Given the description of an element on the screen output the (x, y) to click on. 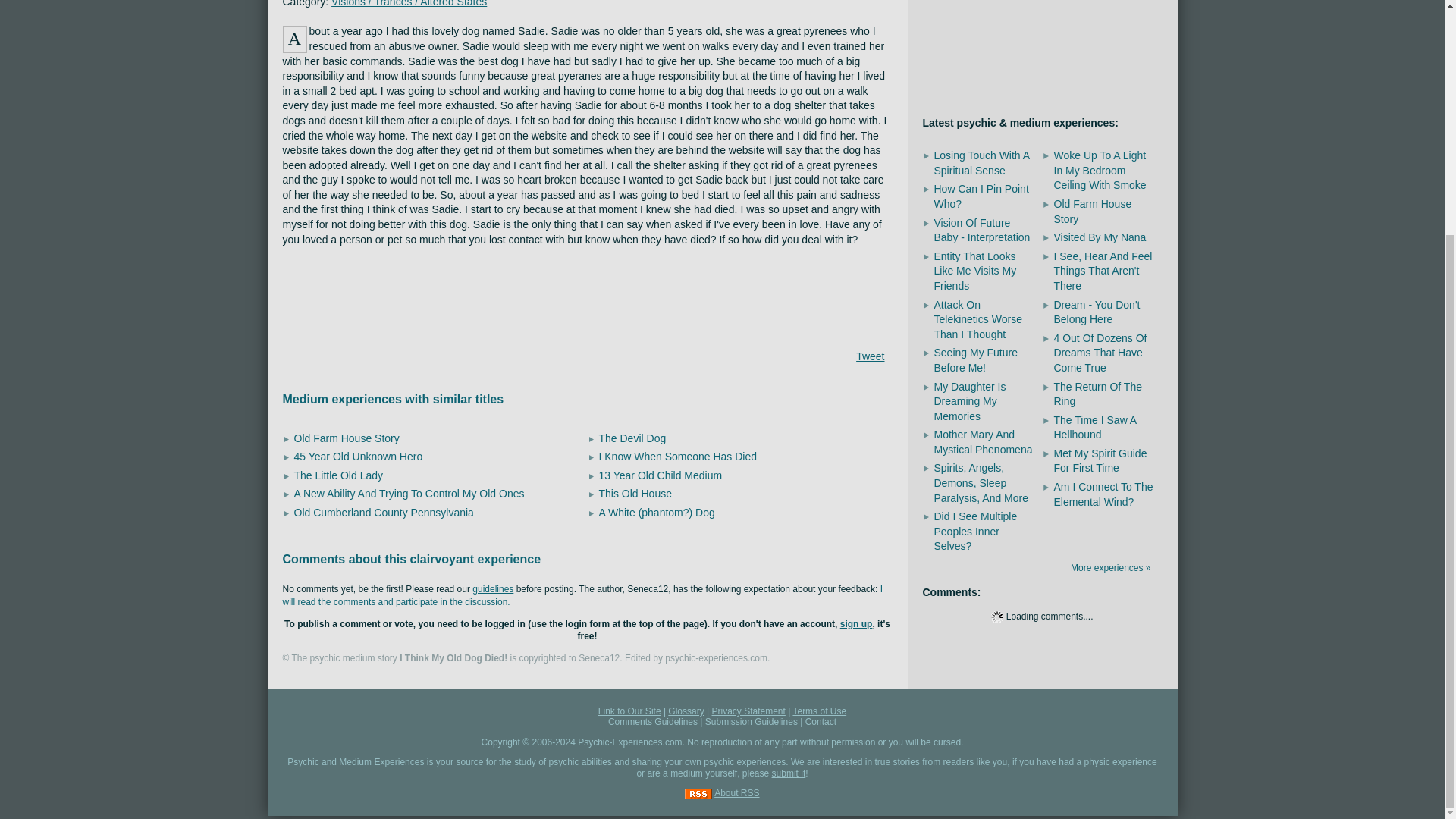
13 Year Old Child Medium (660, 475)
Old Cumberland County Pennsylvania (384, 512)
The Little Old Lady (339, 475)
This Old House (634, 493)
Advertisement (1041, 45)
A New Ability And Trying To Control My Old Ones (409, 493)
Advertisement (587, 296)
The Devil Dog (632, 438)
Old Farm House Story (346, 438)
Tweet (869, 356)
